Given the description of an element on the screen output the (x, y) to click on. 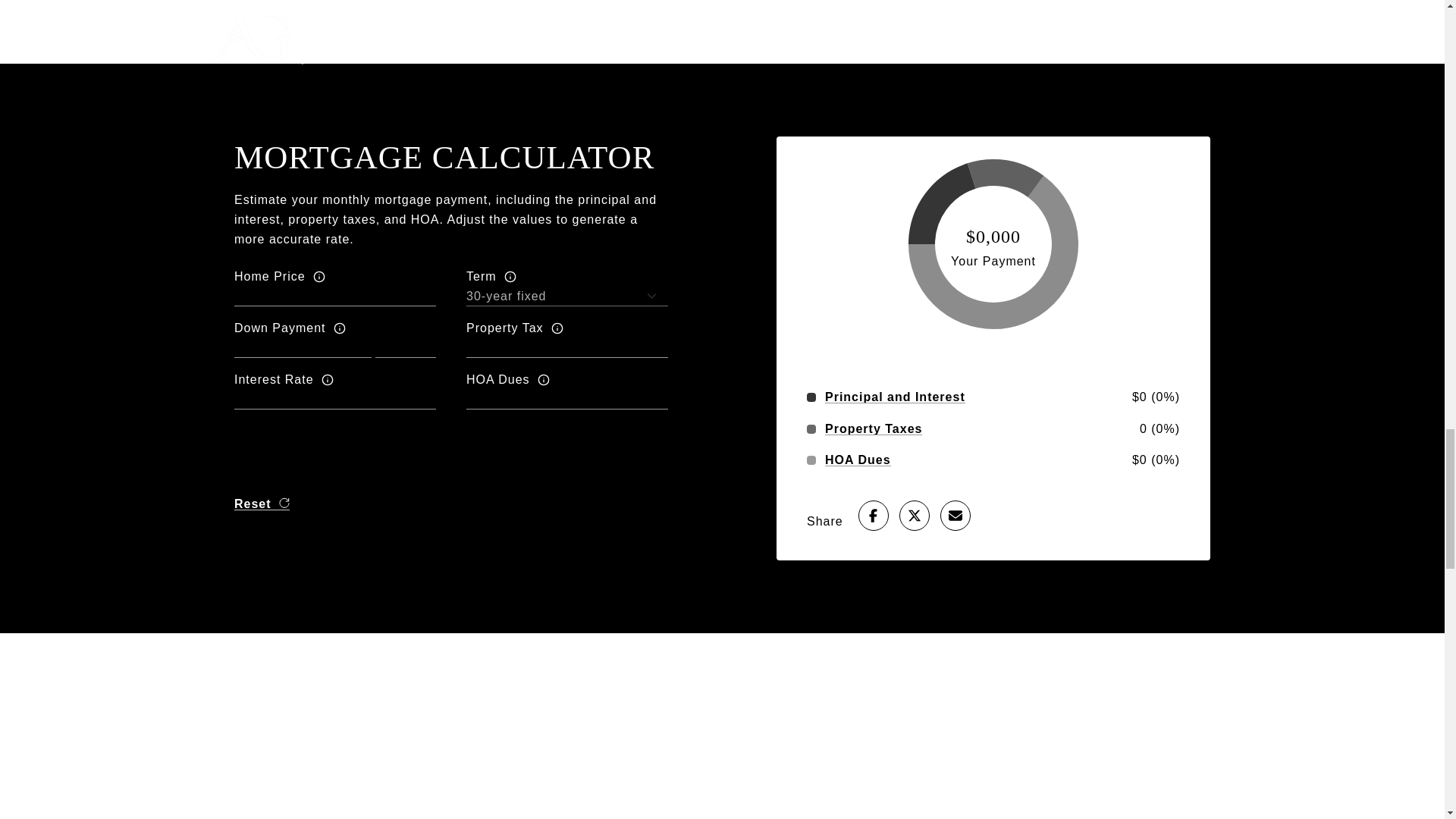
Property Taxes (873, 428)
Principal and Interest (895, 397)
HOA Dues (858, 460)
Reset (261, 503)
